Given the description of an element on the screen output the (x, y) to click on. 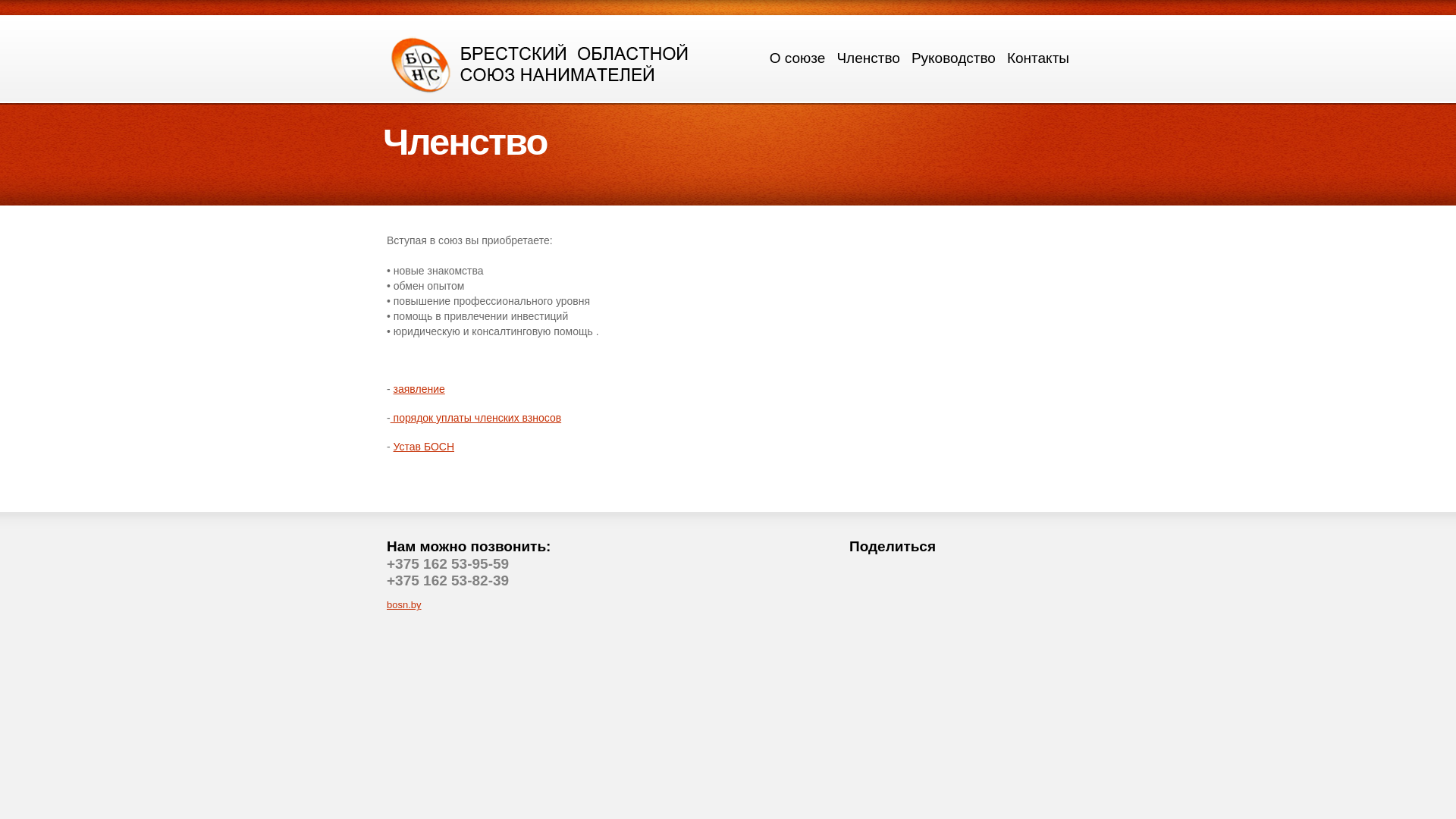
bosn.by Element type: text (403, 604)
logo Element type: text (540, 63)
